Given the description of an element on the screen output the (x, y) to click on. 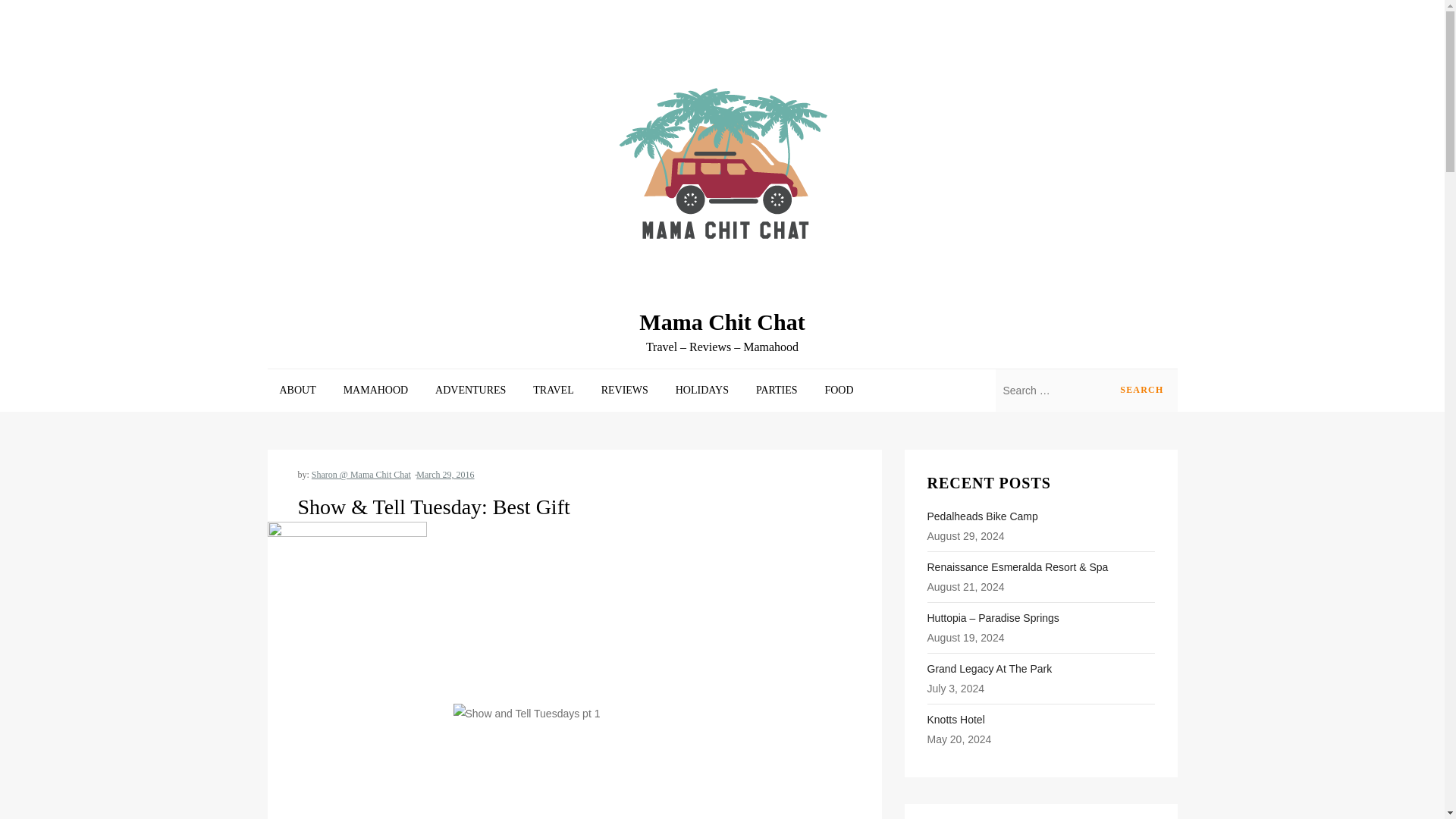
MAMAHOOD (375, 390)
Search (1141, 390)
PARTIES (776, 390)
REVIEWS (625, 390)
Mama Chit Chat (722, 321)
Search (1141, 390)
Search (1141, 390)
FOOD (838, 390)
ADVENTURES (470, 390)
HOLIDAYS (702, 390)
